Given the description of an element on the screen output the (x, y) to click on. 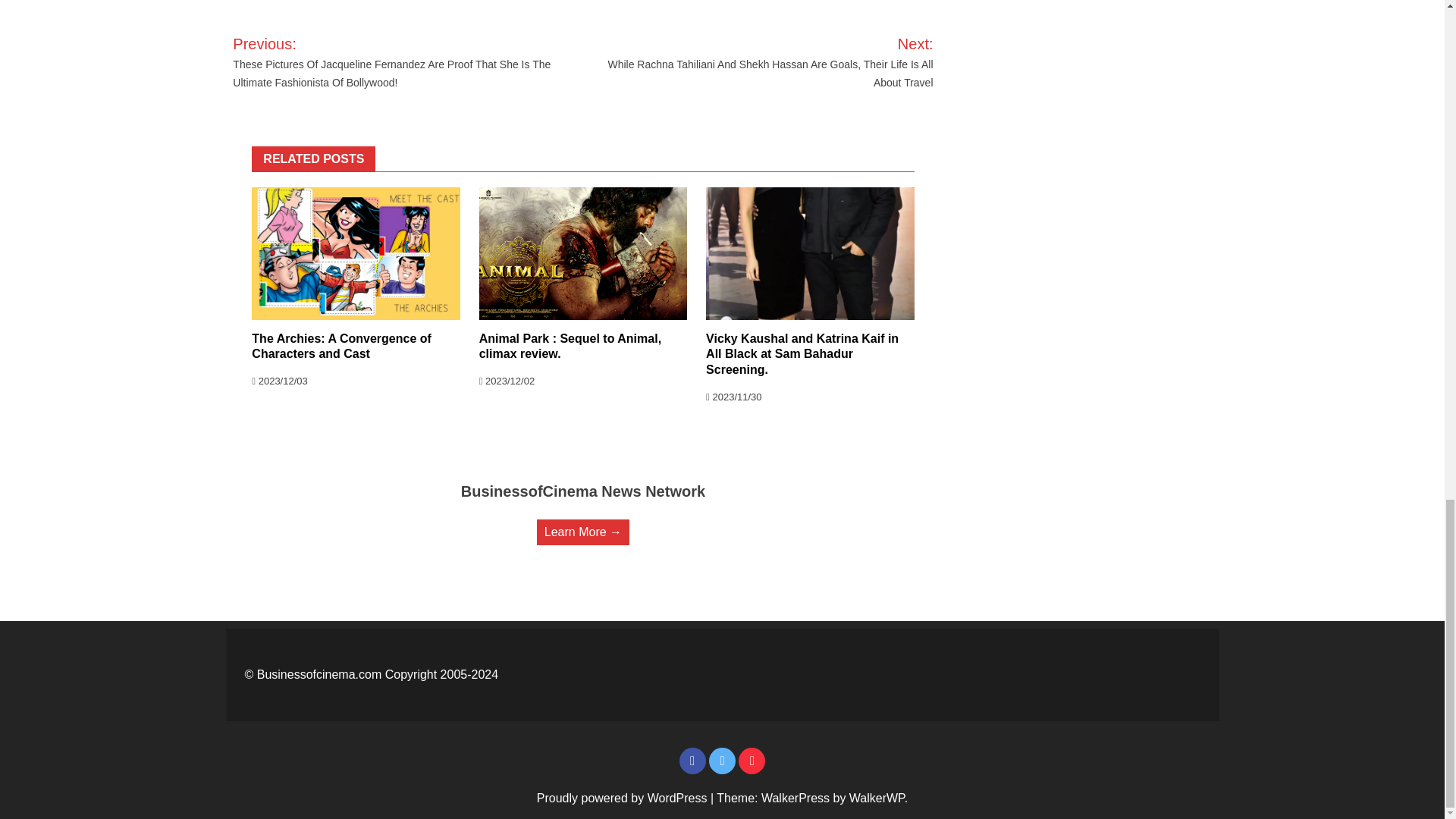
Proudly powered by WordPress (623, 797)
WalkerWP (876, 797)
Animal Park : Sequel to Animal, climax review. (570, 346)
The Archies: A Convergence of Characters and Cast (340, 346)
